Given the description of an element on the screen output the (x, y) to click on. 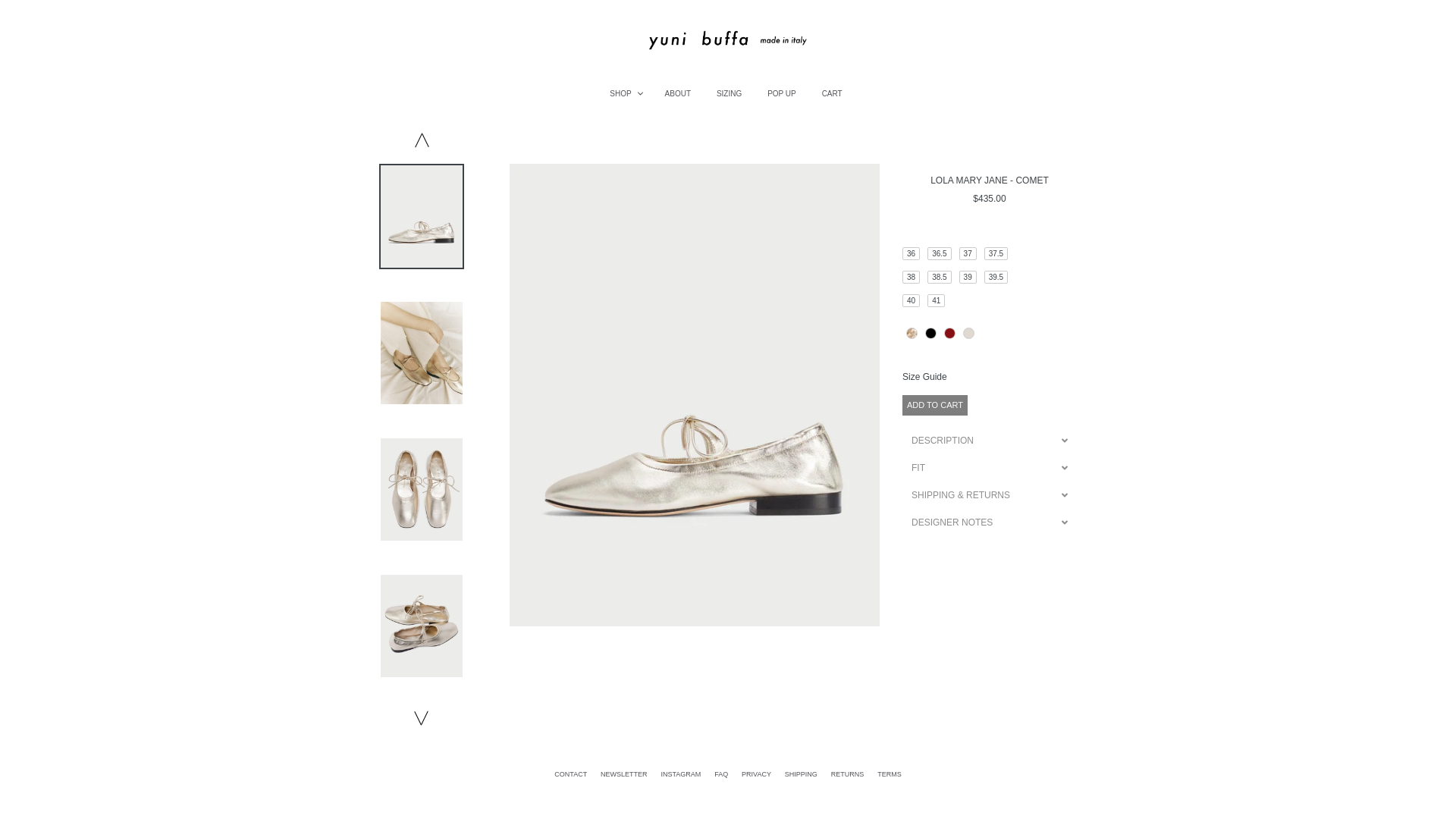
POP UP (781, 93)
ADD TO CART (935, 404)
PREVIOUS SLIDE (421, 140)
SIZING (728, 93)
CART (831, 93)
NEXT SLIDE (421, 717)
Size Guide (989, 377)
ABOUT (677, 93)
